Given the description of an element on the screen output the (x, y) to click on. 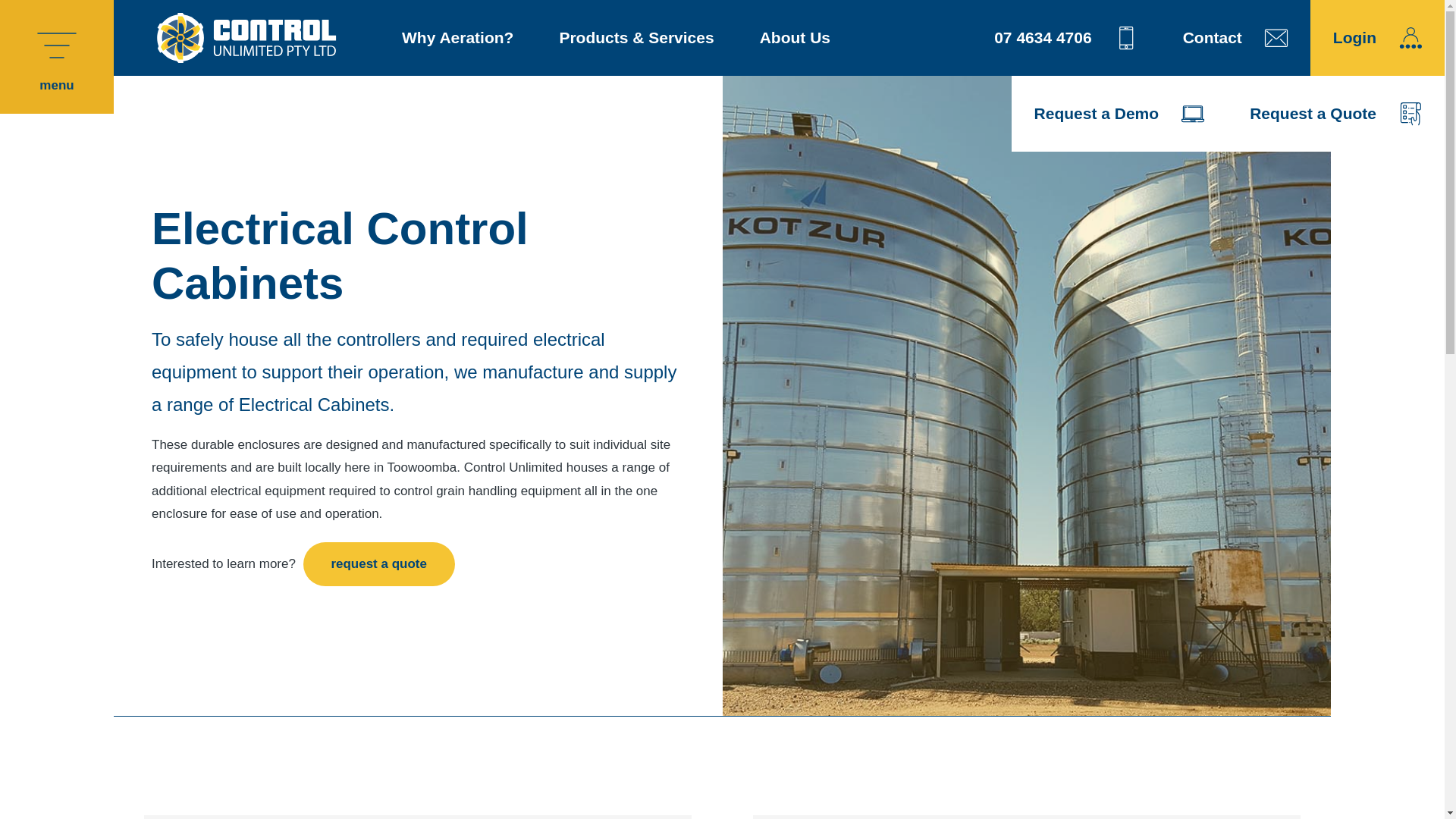
Contact Element type: text (1235, 37)
Products & Services Element type: text (636, 37)
07 4634 4706 Element type: text (1065, 37)
request a quote Element type: text (379, 564)
menu Element type: text (56, 56)
Request a Demo Element type: text (1119, 113)
Login Element type: text (1377, 37)
Why Aeration? Element type: text (457, 37)
Request a Quote Element type: text (1335, 113)
Control Unlimited Element type: hover (246, 37)
About Us Element type: text (795, 37)
